Given the description of an element on the screen output the (x, y) to click on. 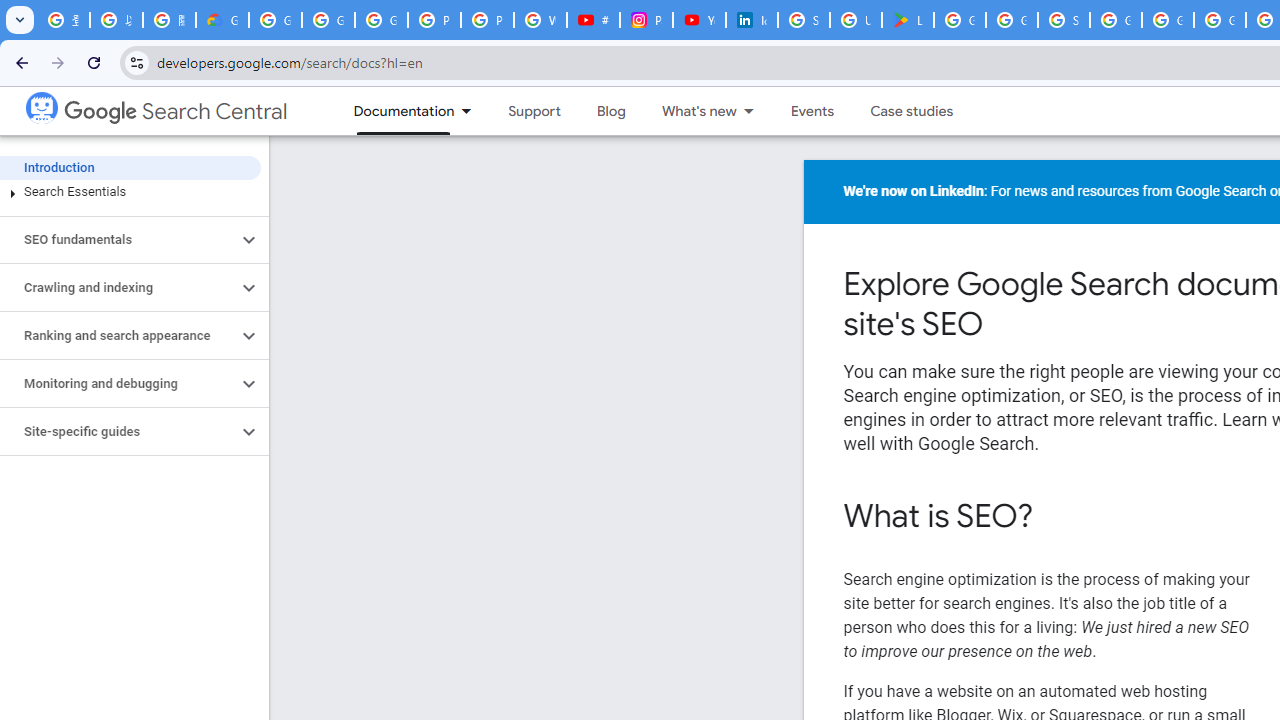
Monitoring and debugging (118, 384)
Sign in - Google Accounts (803, 20)
YouTube Culture & Trends - On The Rise: Handcam Videos (699, 20)
Privacy Help Center - Policies Help (487, 20)
Crawling and indexing (118, 287)
Events (811, 111)
Support (534, 111)
Search Essentials (130, 191)
Sign in - Google Accounts (1064, 20)
